Given the description of an element on the screen output the (x, y) to click on. 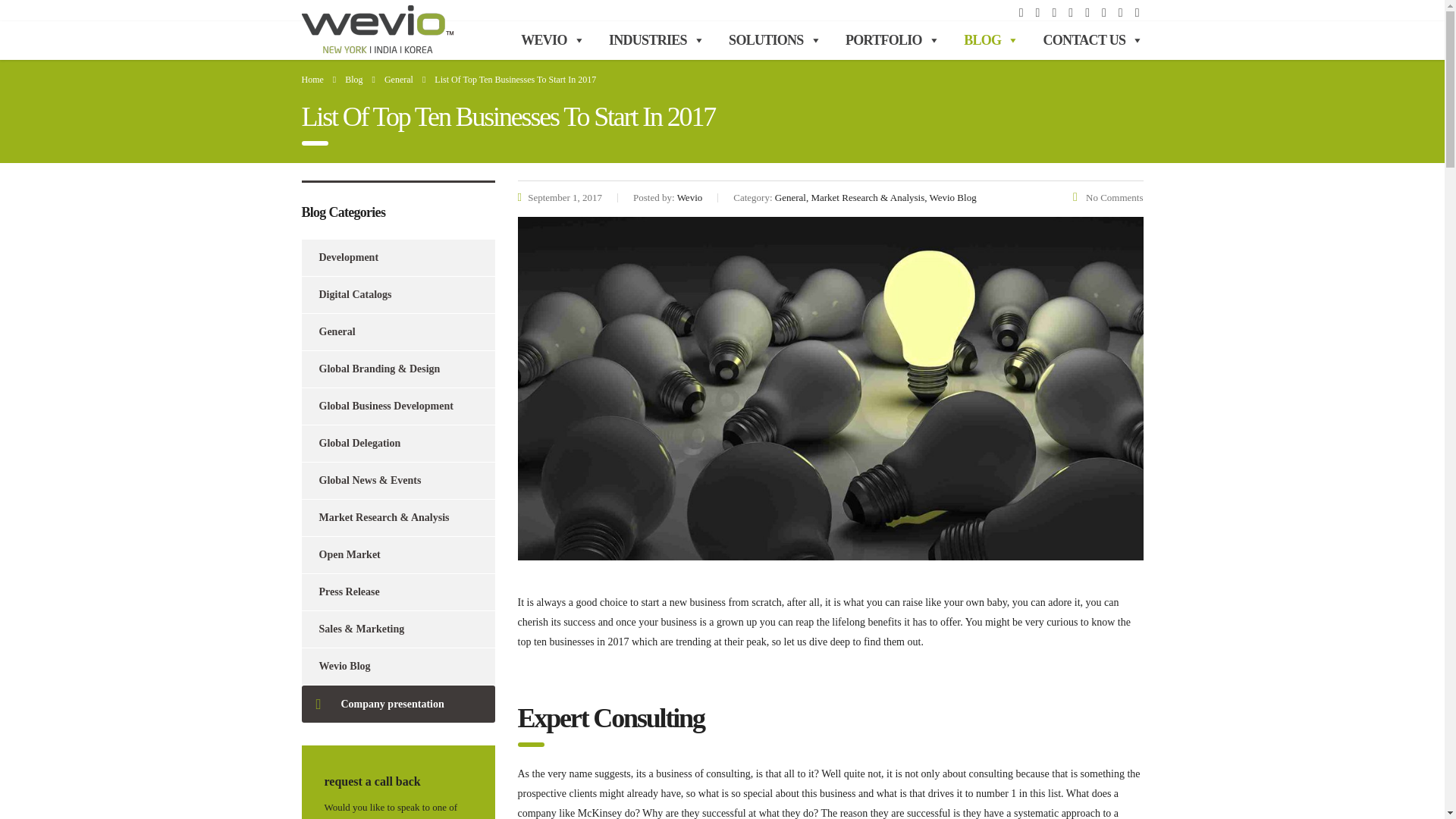
Wevio Global Inc Presentation 2017 (398, 703)
WEVIO (552, 39)
Go to Blog. (353, 79)
SOLUTIONS (774, 39)
Go to the General category archives. (398, 79)
INDUSTRIES (656, 39)
